Given the description of an element on the screen output the (x, y) to click on. 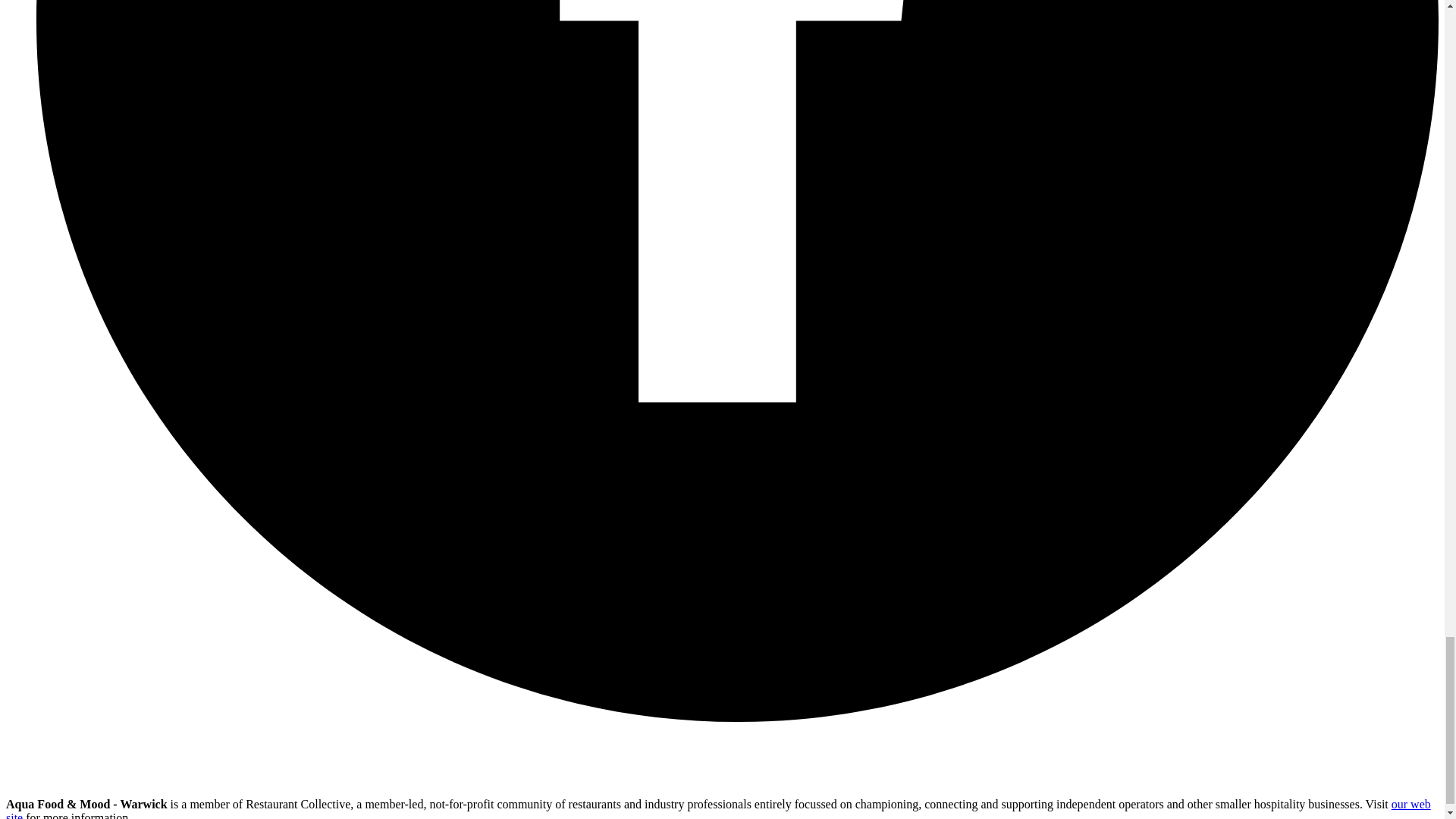
Link to Restaurant Collective website (51, 778)
